Given the description of an element on the screen output the (x, y) to click on. 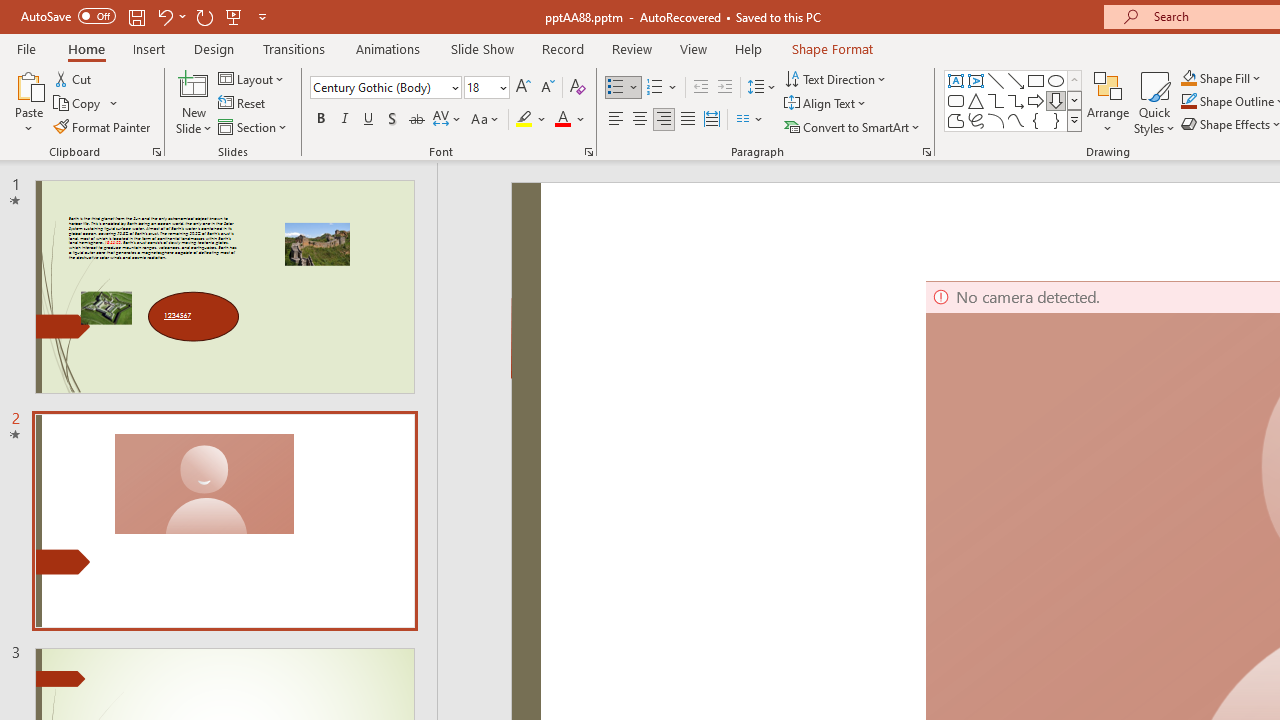
Shape Fill Aqua, Accent 2 (1188, 78)
